Given the description of an element on the screen output the (x, y) to click on. 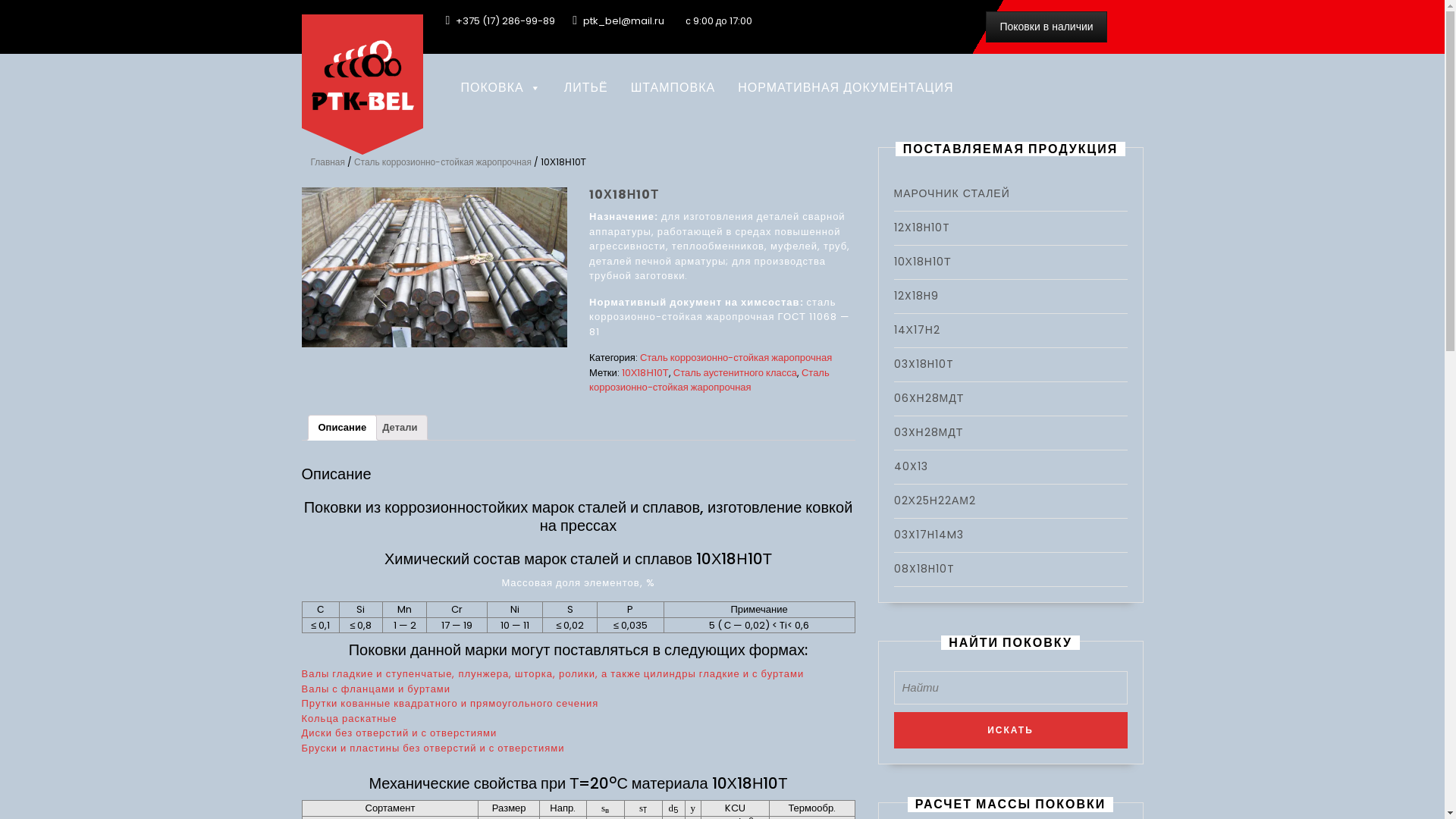
40X13 Element type: text (910, 465)
08X18H10T Element type: text (923, 568)
12X18H10T Element type: text (921, 227)
03X17H14M3 Element type: text (928, 534)
12X18H9 Element type: text (915, 295)
03X18H10T Element type: text (923, 363)
